Given the description of an element on the screen output the (x, y) to click on. 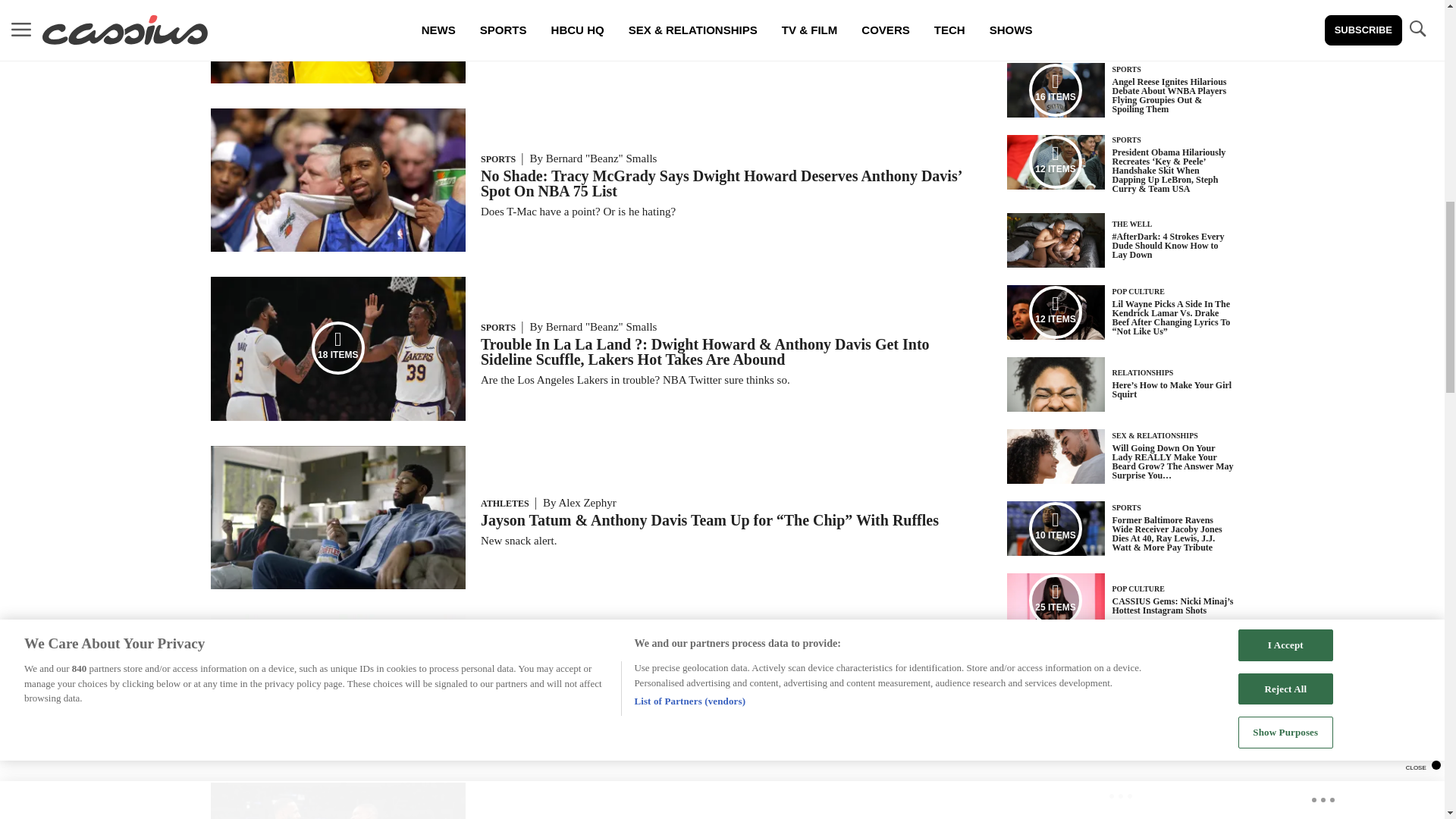
SNEAKERS (504, 664)
Media Playlist (1055, 312)
Bernard "Beanz" Smalls (602, 326)
Media Playlist (338, 18)
Bernard "Beanz" Smalls (615, 663)
SPORTS (497, 158)
Bernard "Beanz" Smalls (602, 158)
Media Playlist (338, 347)
ATHLETES (504, 502)
Media Playlist (1055, 528)
Alex Zephyr (586, 502)
Media Playlist (1055, 90)
Media Playlist (1055, 162)
Media Playlist (1055, 600)
